Given the description of an element on the screen output the (x, y) to click on. 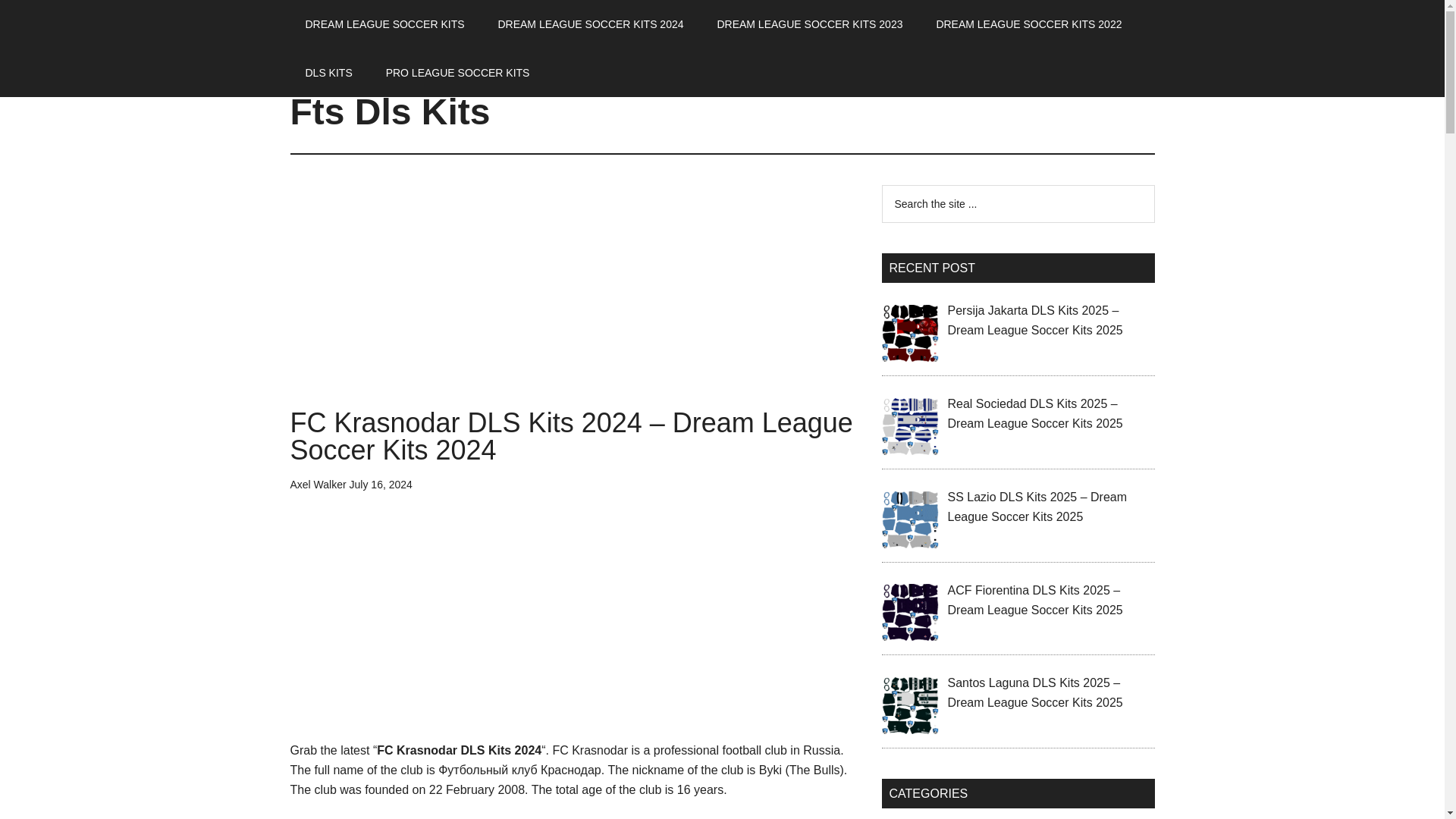
PRO LEAGUE SOCCER KITS (457, 72)
DREAM LEAGUE SOCCER KITS 2024 (589, 24)
DREAM LEAGUE SOCCER KITS 2023 (809, 24)
DLS KITS (327, 72)
Advertisement (574, 296)
DREAM LEAGUE SOCCER KITS 2022 (1028, 24)
Advertisement (574, 628)
DREAM LEAGUE SOCCER KITS (384, 24)
